Given the description of an element on the screen output the (x, y) to click on. 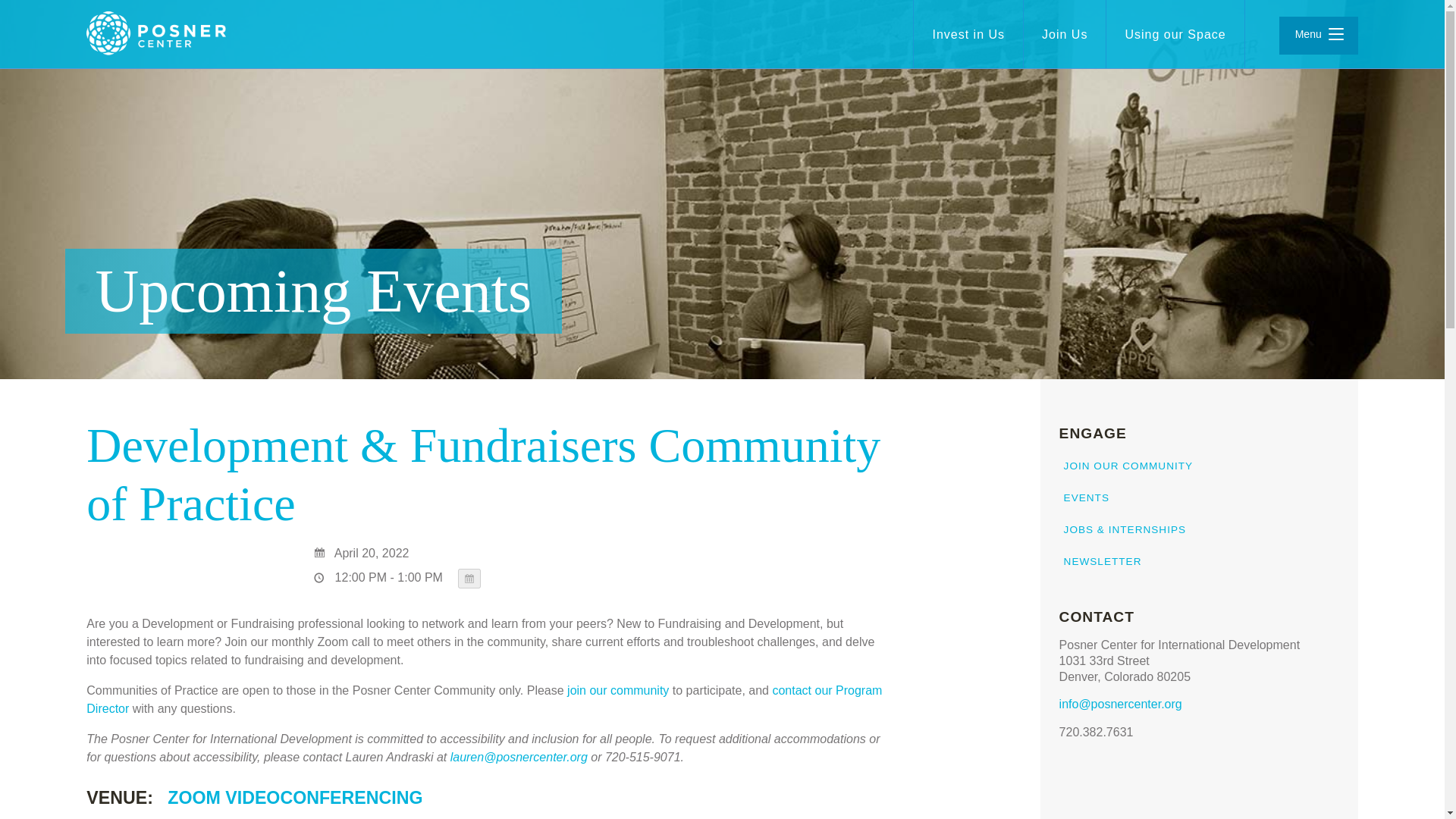
Add to iCal Calendar (469, 578)
Using our Space (1174, 34)
Menu (1318, 35)
Invest in Us (968, 34)
Join Us (1064, 34)
